Given the description of an element on the screen output the (x, y) to click on. 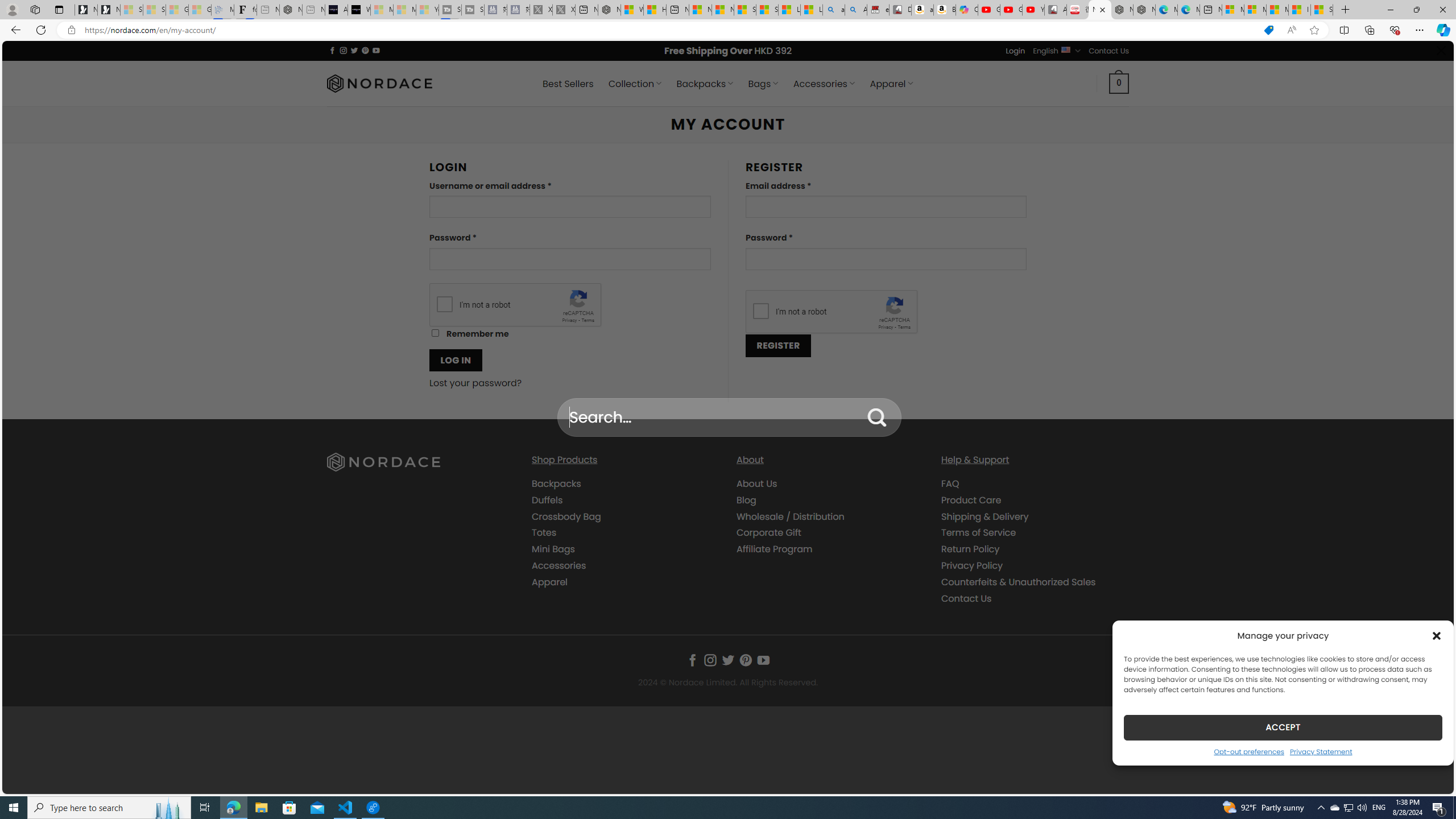
Wholesale / Distribution (830, 516)
Close (Esc) (1440, 53)
Crossbody Bag (566, 516)
Huge shark washes ashore at New York City beach | Watch (655, 9)
Contact Us (965, 598)
I Gained 20 Pounds of Muscle in 30 Days! | Watch (1300, 9)
Submit (876, 417)
Affiliate Program (774, 549)
Corporate Gift (768, 532)
